Given the description of an element on the screen output the (x, y) to click on. 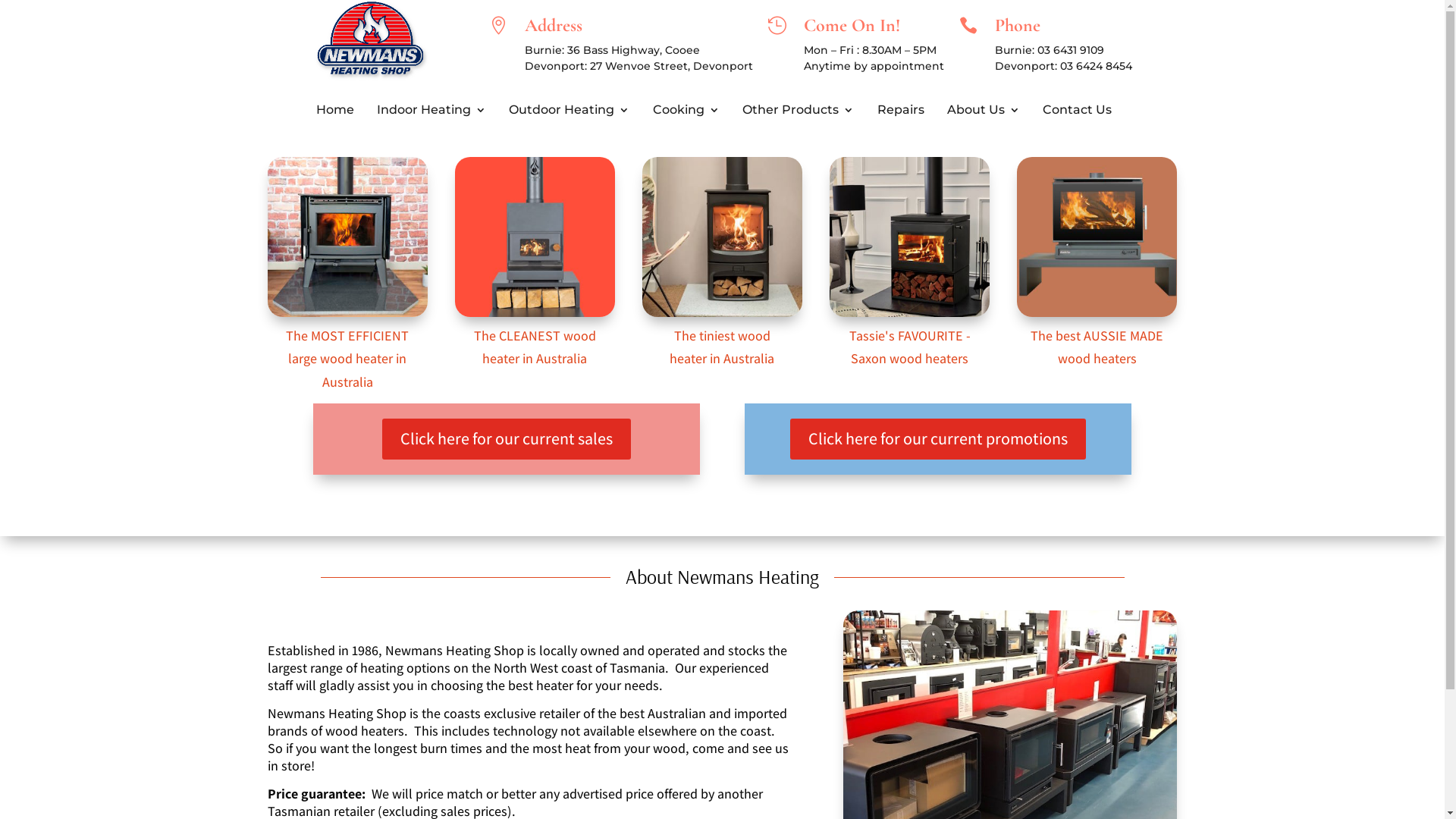
About Us Element type: text (983, 112)
Outdoor Heating Element type: text (568, 112)
Tassie's FAVOURITE - Saxon wood heaters Element type: text (909, 347)
Cooking Element type: text (685, 112)
The CLEANEST wood heater in Australia Element type: text (535, 347)
The MOST EFFICIENT large wood heater in Australia Element type: text (346, 359)
Home Element type: text (335, 112)
The best AUSSIE MADE wood heaters Element type: text (1096, 347)
Contact Us Element type: text (1076, 112)
Saxon Black Element type: hover (909, 236)
Alberni 25 Element type: hover (346, 236)
Other Products Element type: text (797, 112)
Indoor Heating Element type: text (431, 112)
Repairs Element type: text (900, 112)
Click here for our current promotions Element type: text (937, 439)
Click here for our current sales Element type: text (506, 439)
PyroIV 5 Element type: hover (535, 236)
The tiniest wood heater in Australia Element type: text (722, 347)
Pearl Element type: hover (1096, 236)
Charnwood Aire3b Element type: hover (722, 236)
